Given the description of an element on the screen output the (x, y) to click on. 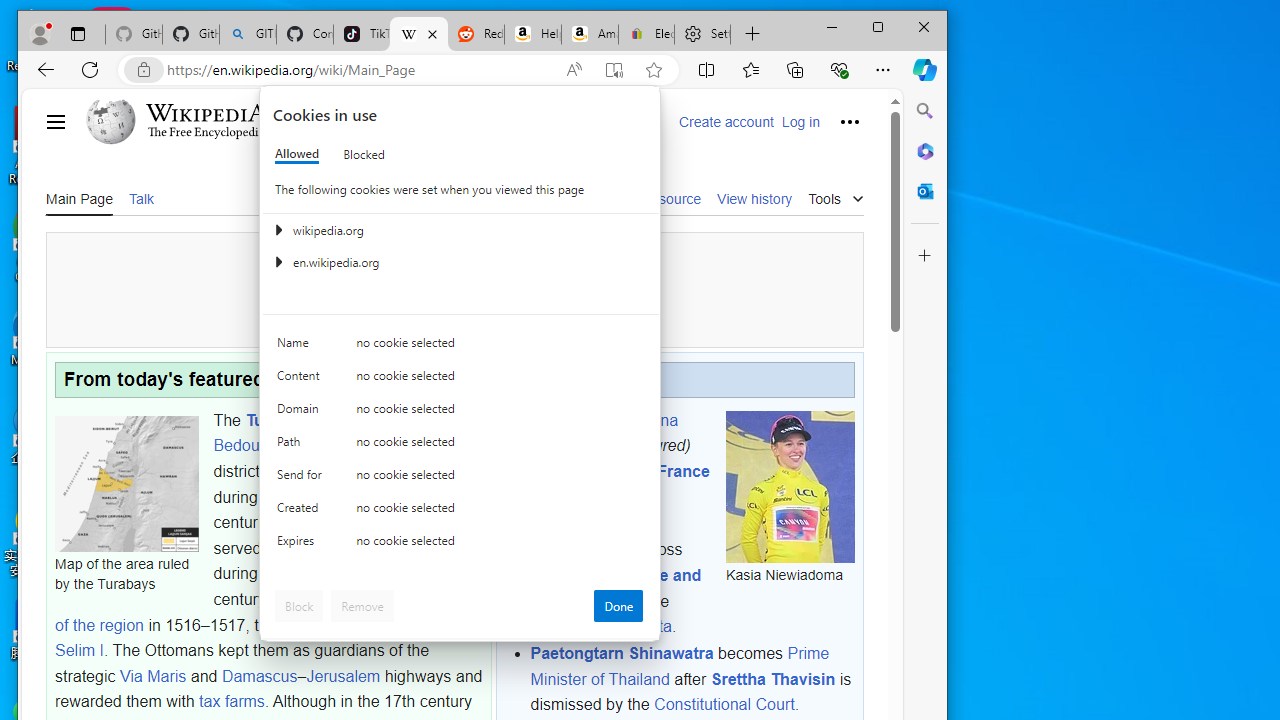
Send for (302, 479)
Class: c0153 c0157 c0154 (460, 347)
Allowed (296, 153)
Expires (302, 544)
Blocked (363, 153)
Done (617, 605)
Domain (302, 413)
Class: c0153 c0157 (460, 545)
Remove (362, 605)
Created (302, 511)
no cookie selected (500, 544)
Name (302, 346)
Path (302, 446)
Block (299, 605)
Content (302, 380)
